Given the description of an element on the screen output the (x, y) to click on. 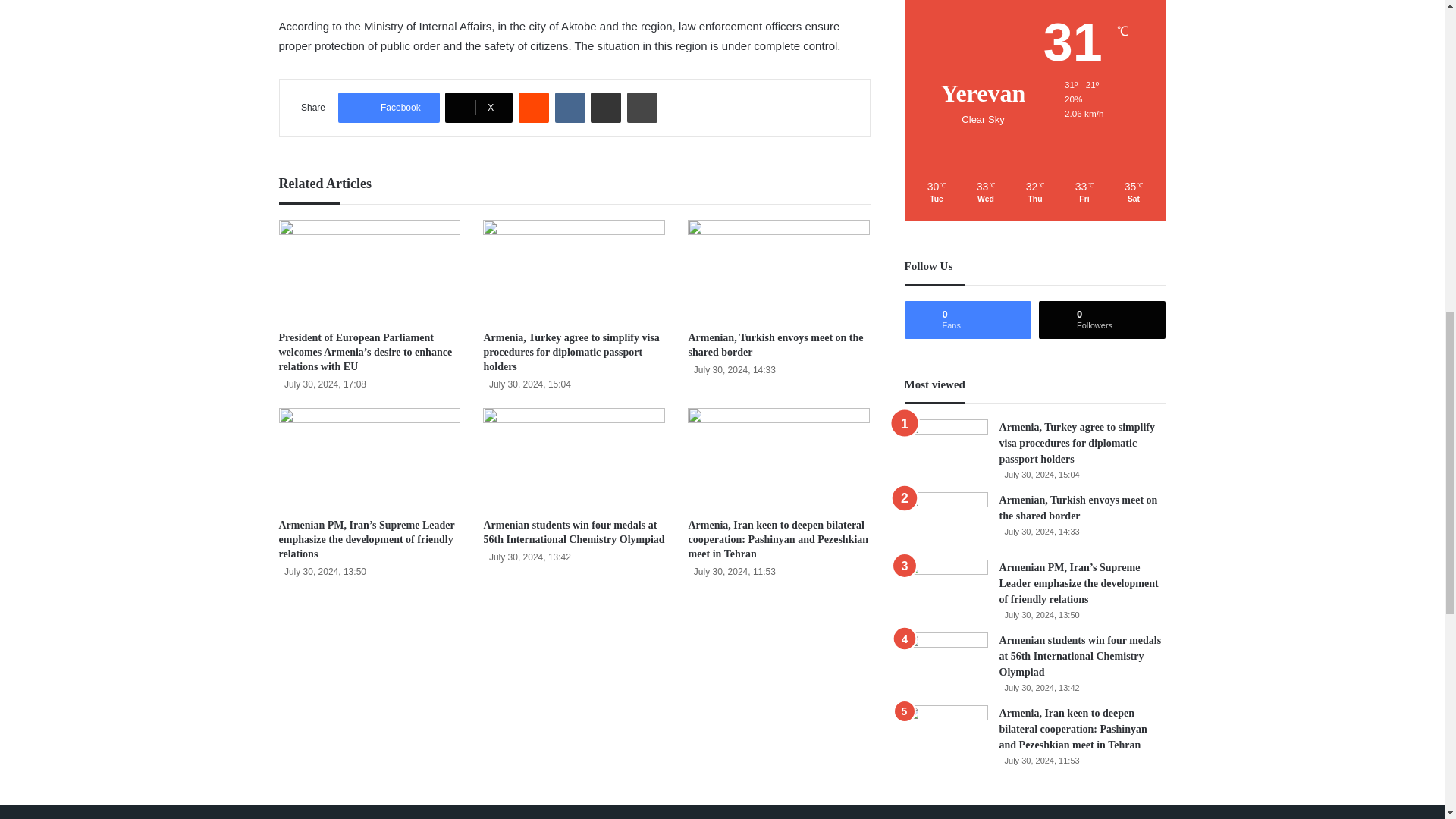
X (478, 107)
VKontakte (569, 107)
Facebook (388, 107)
Print (642, 107)
Share via Email (606, 107)
Reddit (533, 107)
